Given the description of an element on the screen output the (x, y) to click on. 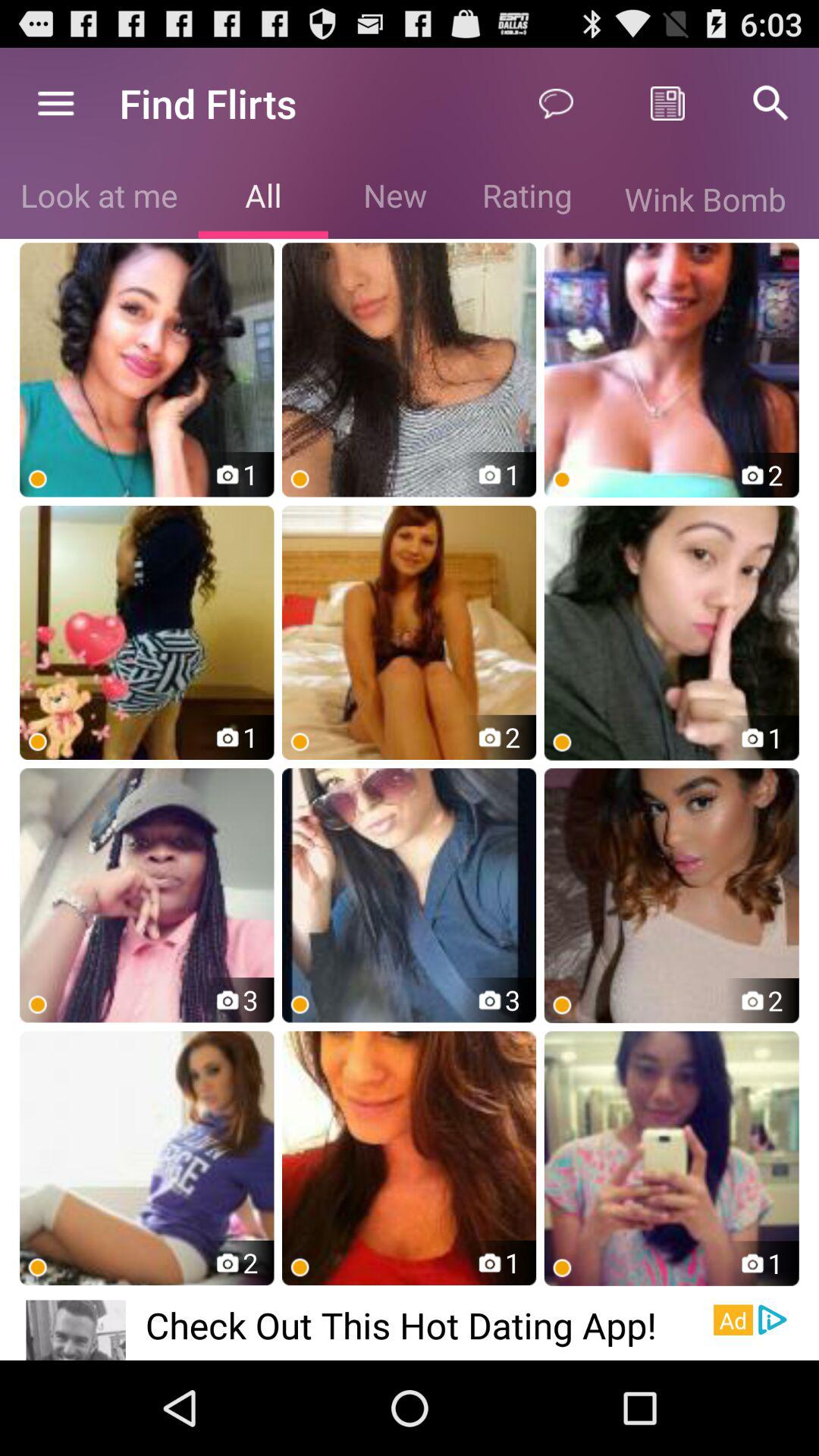
choose look at me (99, 198)
